Given the description of an element on the screen output the (x, y) to click on. 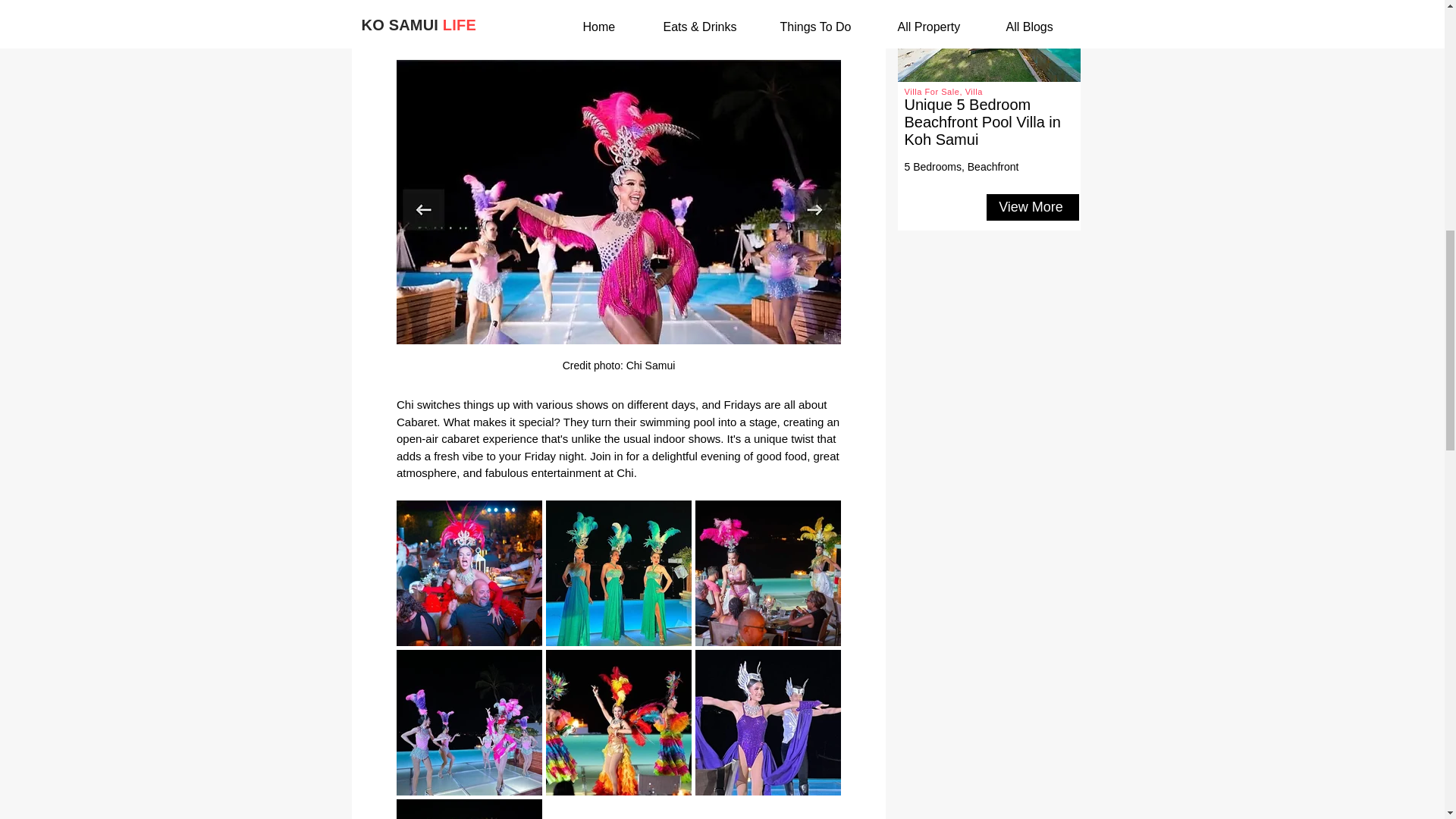
Beachfront Villa For Sale in Koh Samui.jpg (989, 40)
